Given the description of an element on the screen output the (x, y) to click on. 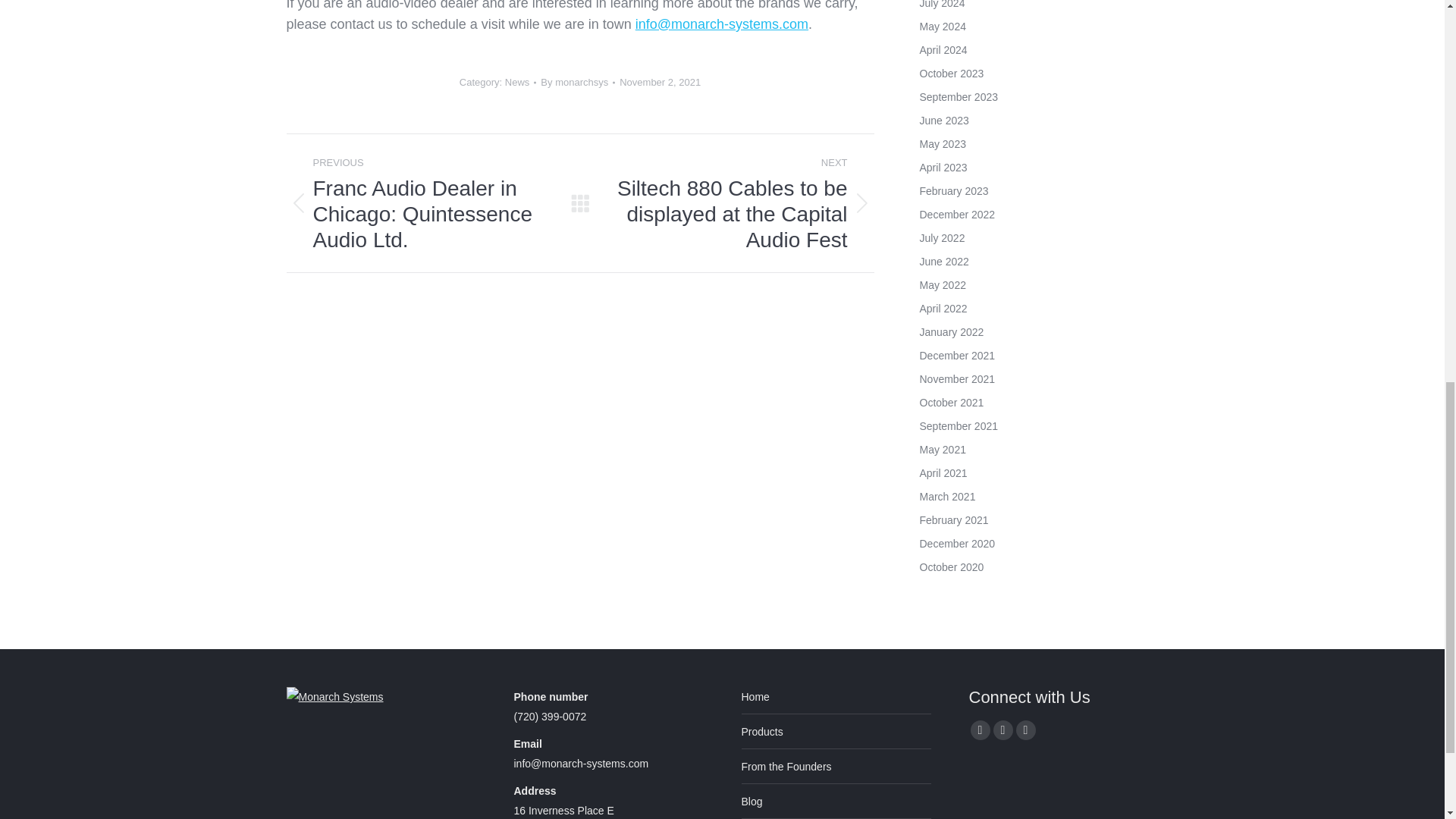
Instagram page opens in new window (1025, 730)
X page opens in new window (1002, 730)
5:53 pm (660, 81)
View all posts by monarchsys (577, 81)
Facebook page opens in new window (980, 730)
